Given the description of an element on the screen output the (x, y) to click on. 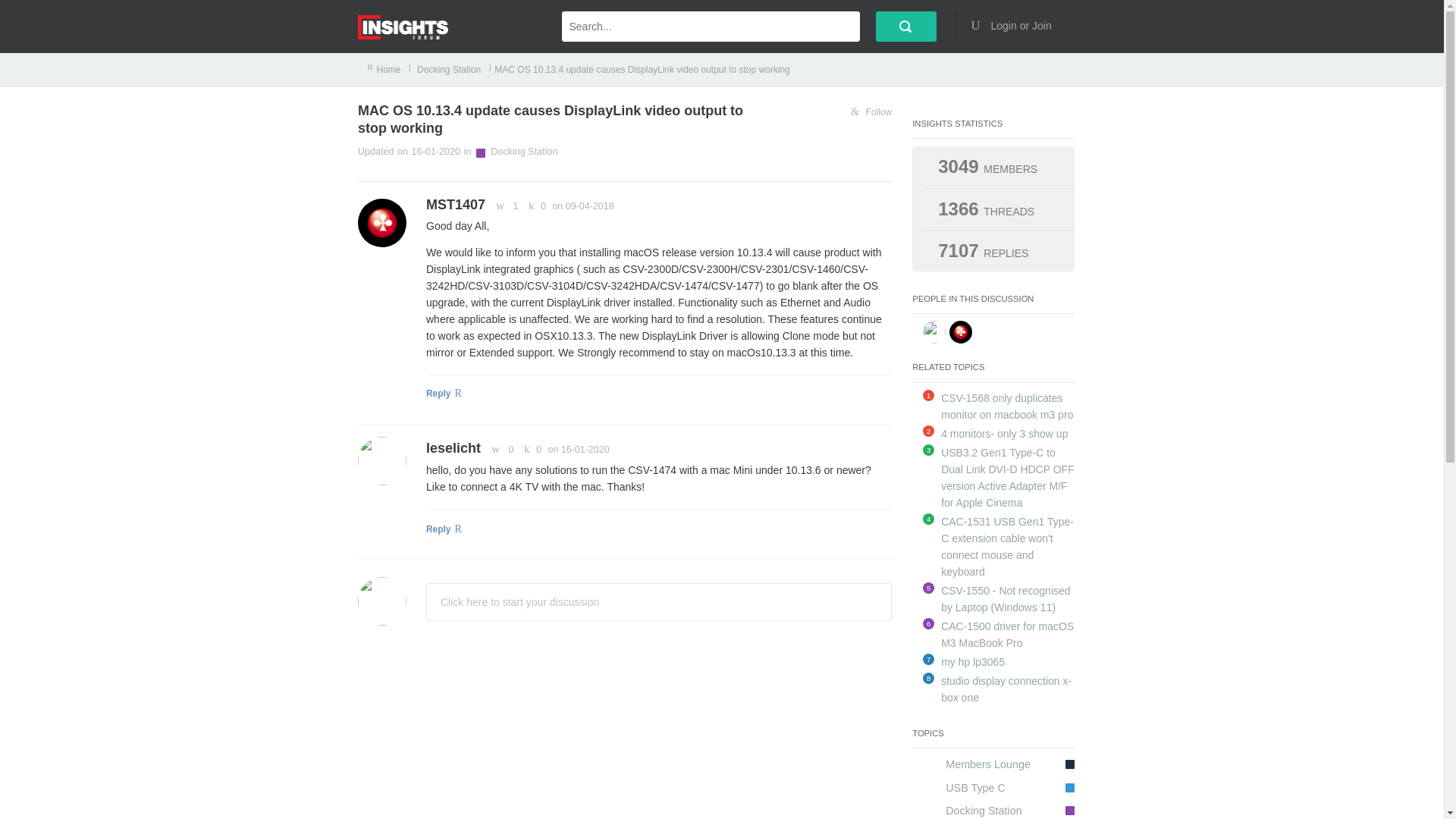
leselicht (453, 447)
Home (389, 69)
MST1407 (455, 204)
0 (529, 449)
4 monitors- only 3 show up (1003, 433)
Docking Station (447, 69)
0 (534, 205)
Click here to start your discussion (658, 601)
Login or Join (1016, 26)
